Given the description of an element on the screen output the (x, y) to click on. 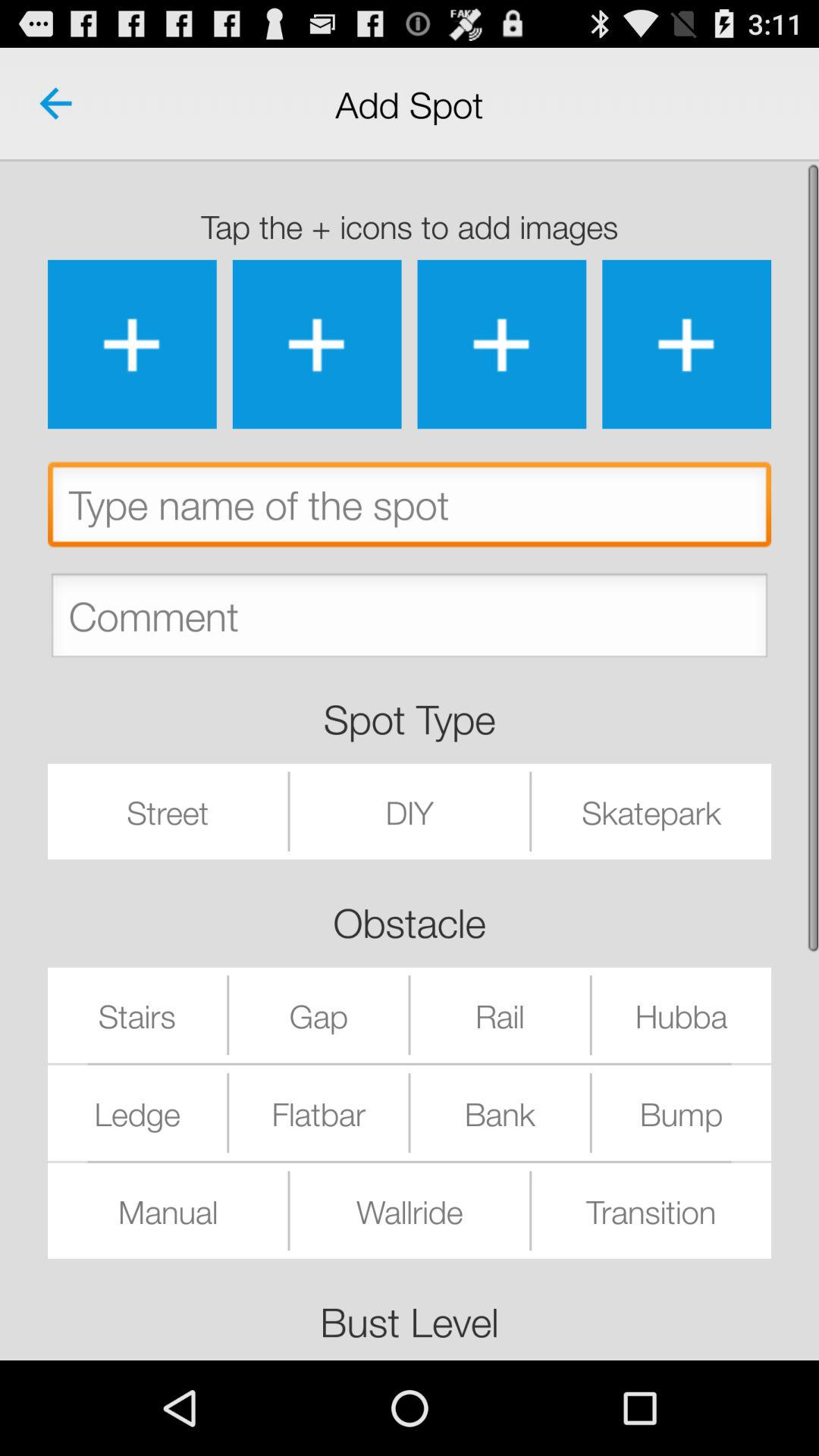
swipe until the flatbar (318, 1112)
